Given the description of an element on the screen output the (x, y) to click on. 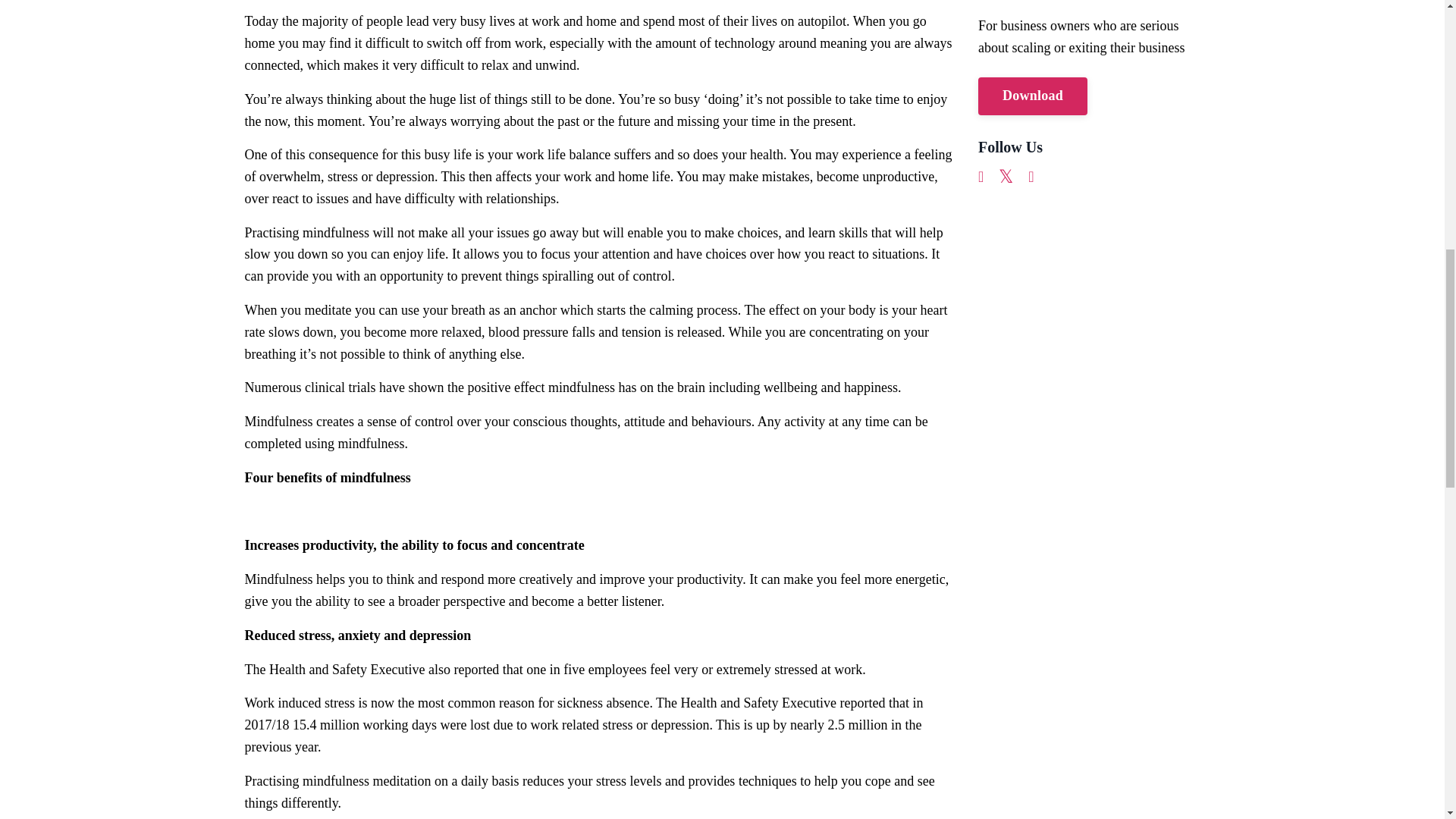
Download (1032, 95)
